Given the description of an element on the screen output the (x, y) to click on. 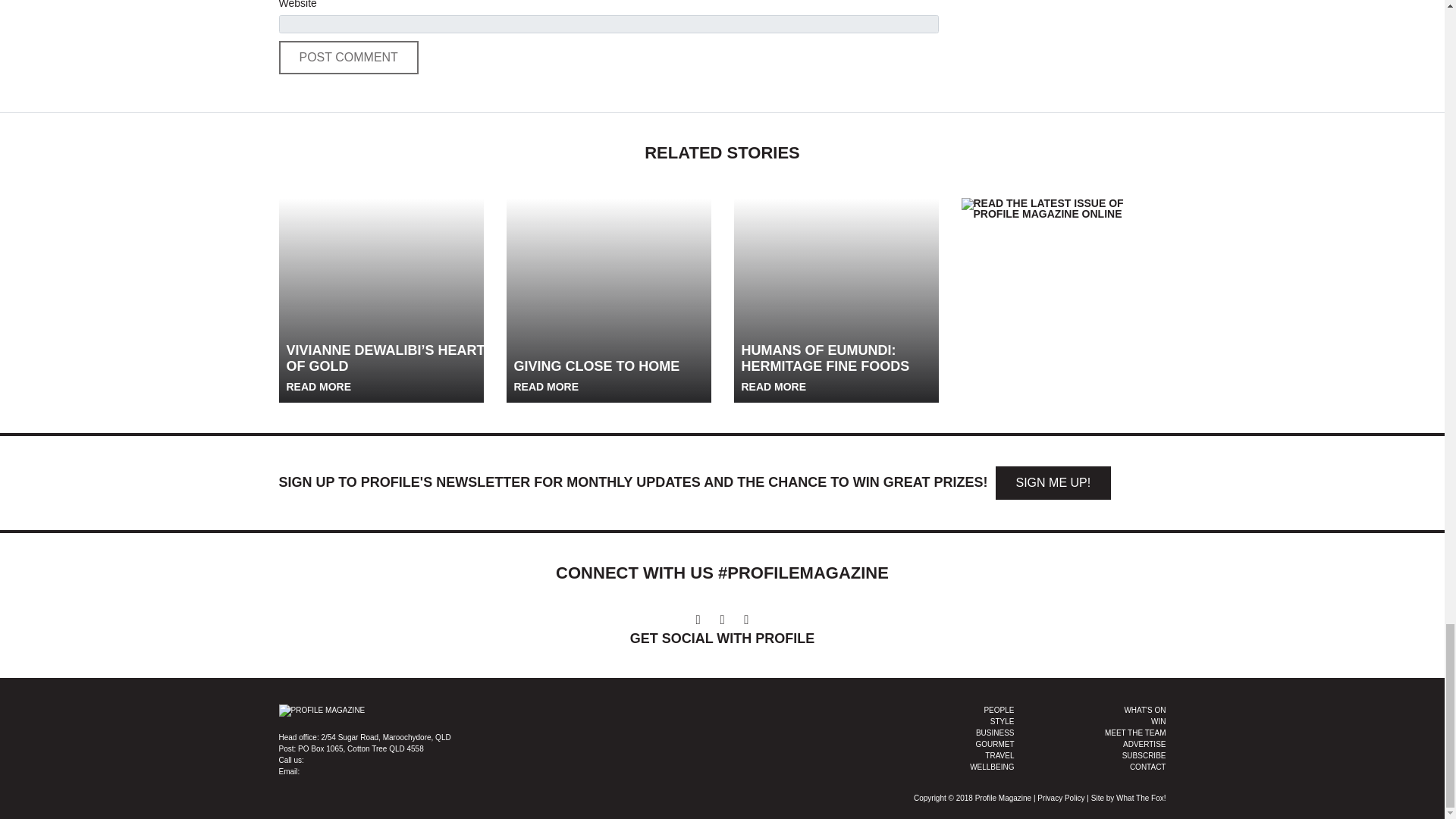
Post Comment (349, 57)
HUMANS OF EUMUNDI: HERMITAGE FINE FOODS (841, 368)
READ MORE (319, 386)
Humans of Eumundi: Hermitage Fine Foods (836, 300)
Giving Close to Home (608, 300)
Post Comment (349, 57)
subscribe to our newsletter (1052, 482)
READ MORE (546, 386)
GIVING CLOSE TO HOME (596, 375)
